Given the description of an element on the screen output the (x, y) to click on. 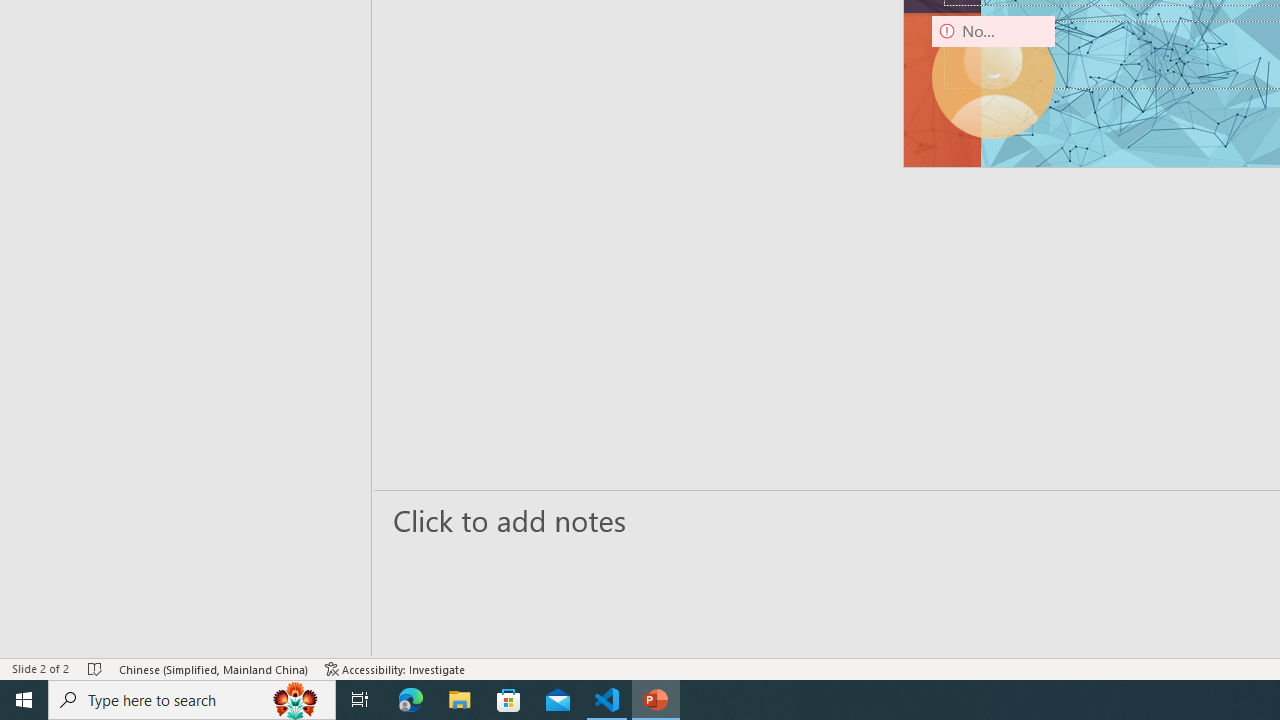
Microsoft Edge (411, 699)
Camera 9, No camera detected. (993, 77)
